Given the description of an element on the screen output the (x, y) to click on. 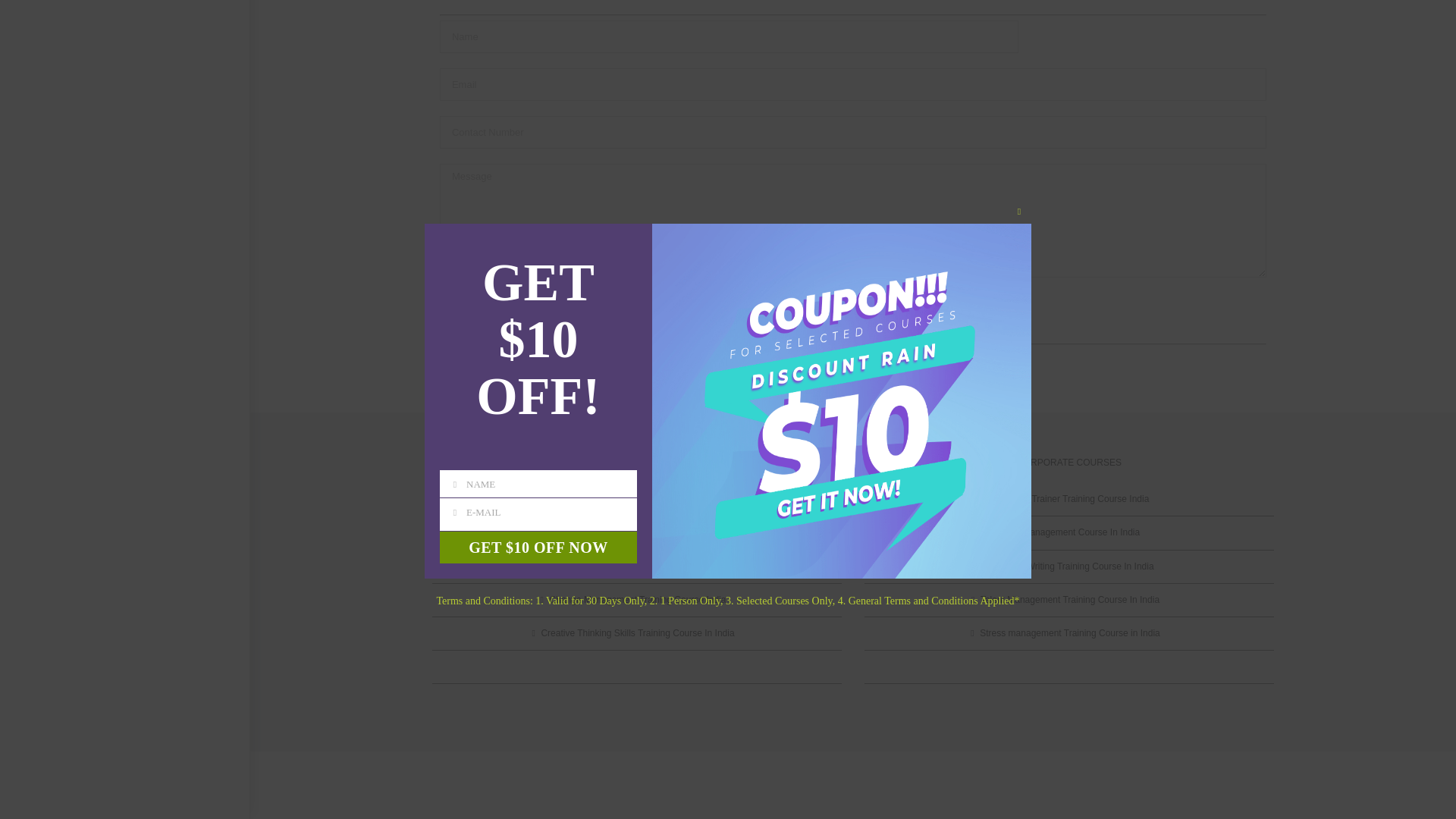
submit (467, 307)
